Given the description of an element on the screen output the (x, y) to click on. 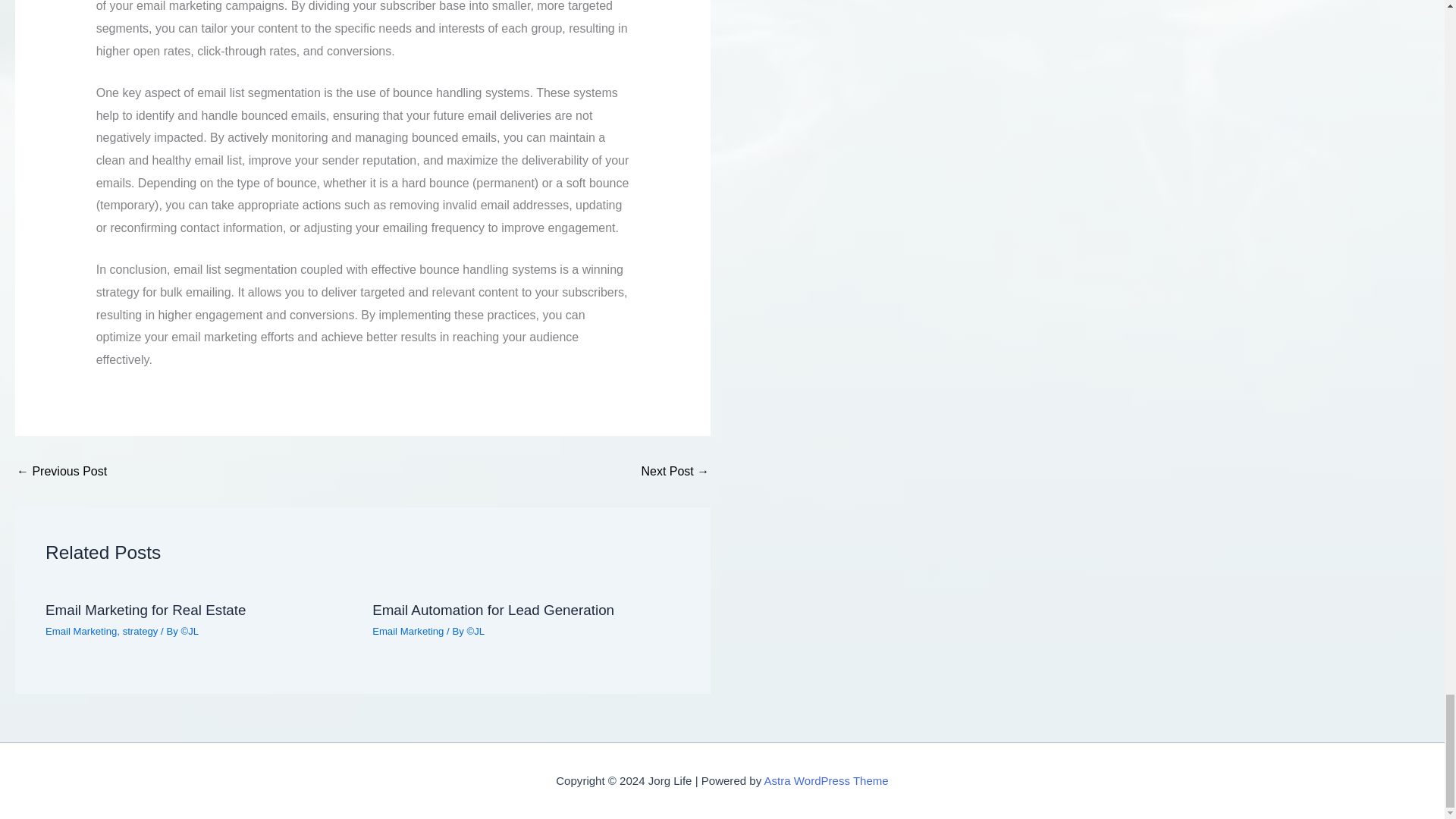
Gamification in Email: Engaging Audiences (61, 471)
Email Marketing for Real Estate (145, 609)
strategy (140, 631)
Email Marketing (80, 631)
Email Marketing Trends to Watch (674, 471)
Email Marketing (408, 631)
Email Automation for Lead Generation (493, 609)
